Given the description of an element on the screen output the (x, y) to click on. 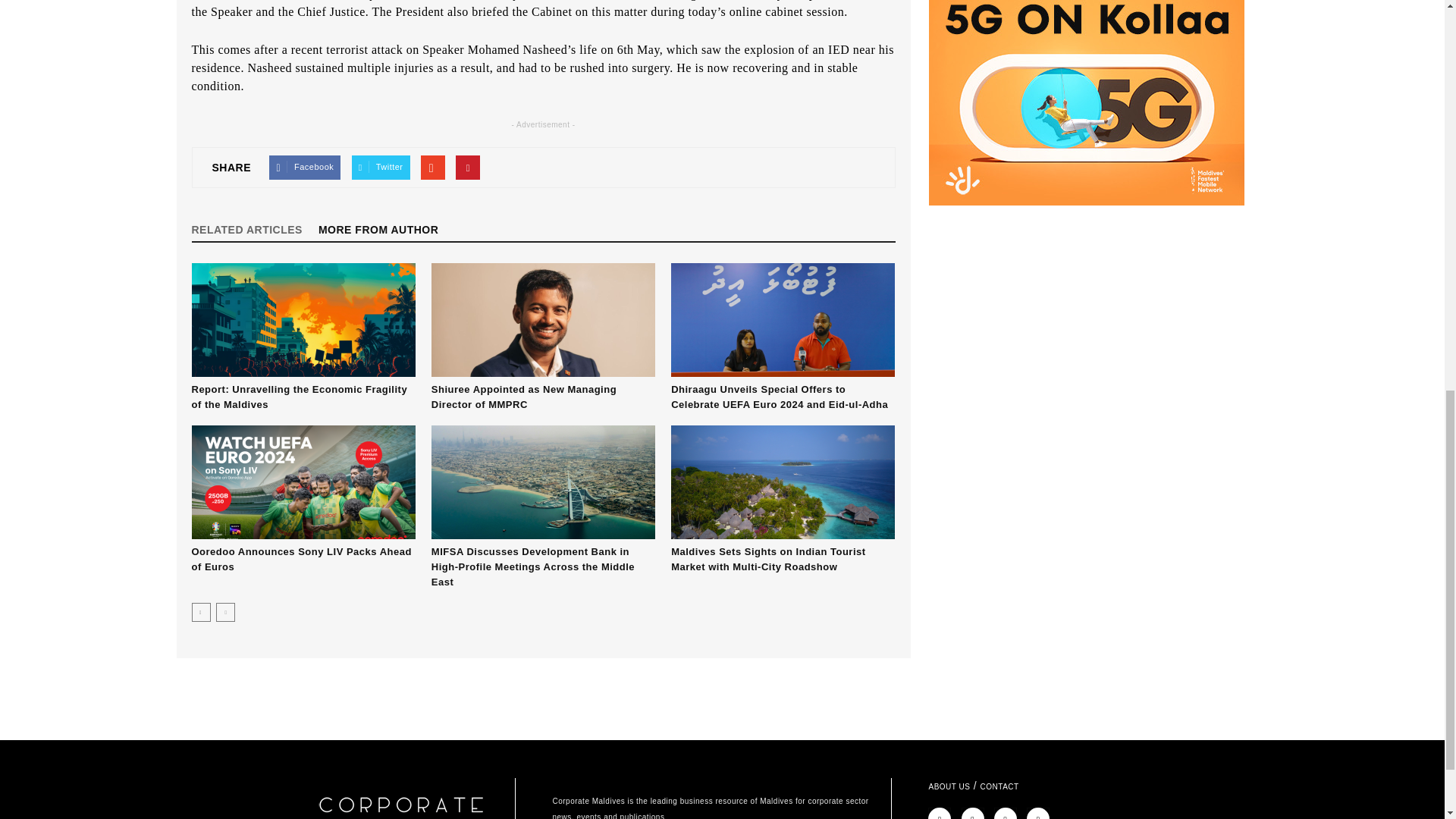
Shiuree Appointed as New Managing Director of MMPRC (522, 397)
Facebook (304, 167)
Shiuree Appointed as New Managing Director of MMPRC (542, 319)
Ooredoo Announces Sony LIV Packs Ahead of Euros (300, 559)
Report: Unravelling the Economic Fragility of the Maldives (302, 319)
Report: Unravelling the Economic Fragility of the Maldives (298, 397)
Ooredoo Announces Sony LIV Packs Ahead of Euros (302, 481)
Twitter (381, 167)
